Given the description of an element on the screen output the (x, y) to click on. 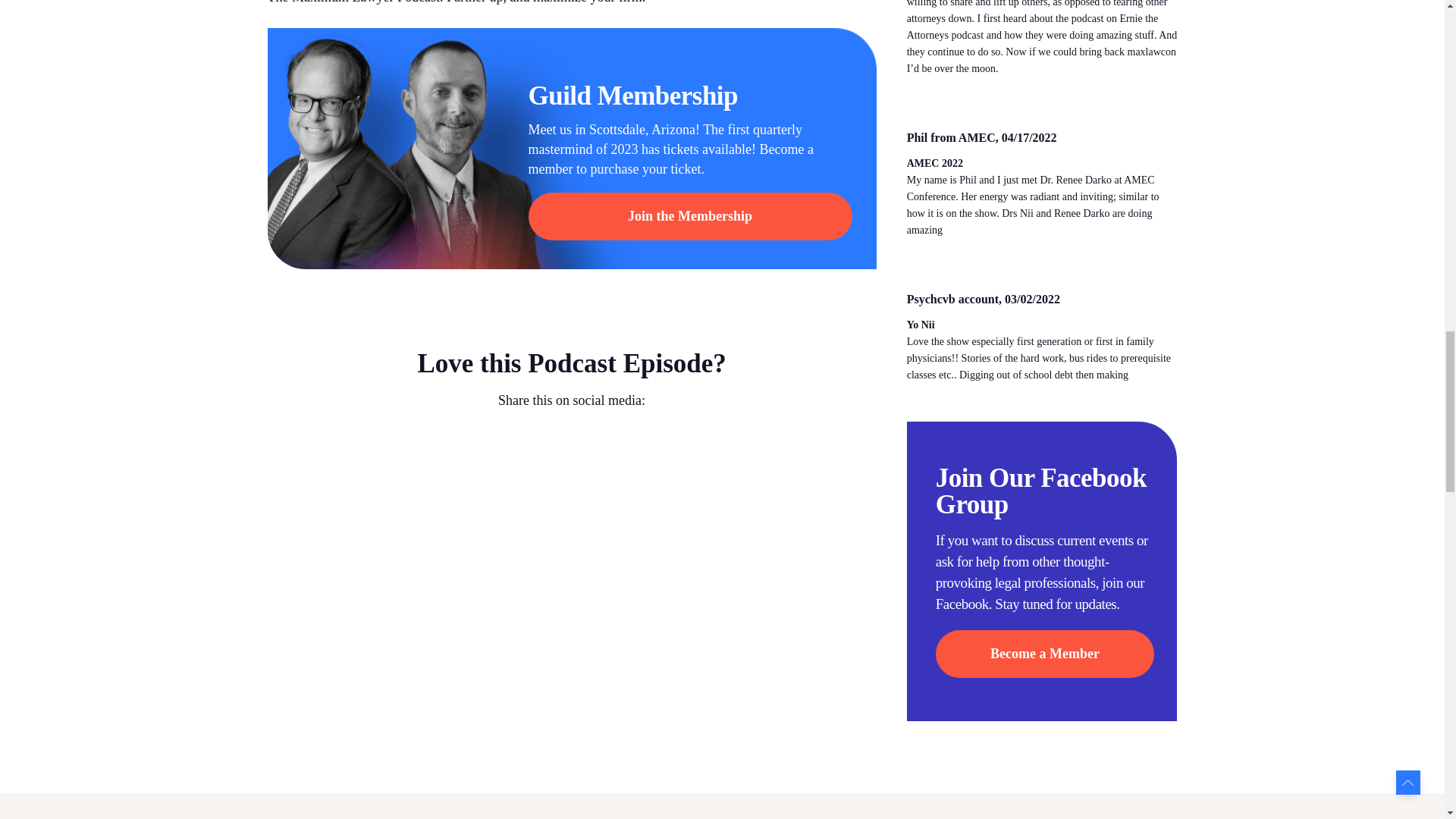
Become a Member (1045, 653)
Join the Membership (689, 216)
